Given the description of an element on the screen output the (x, y) to click on. 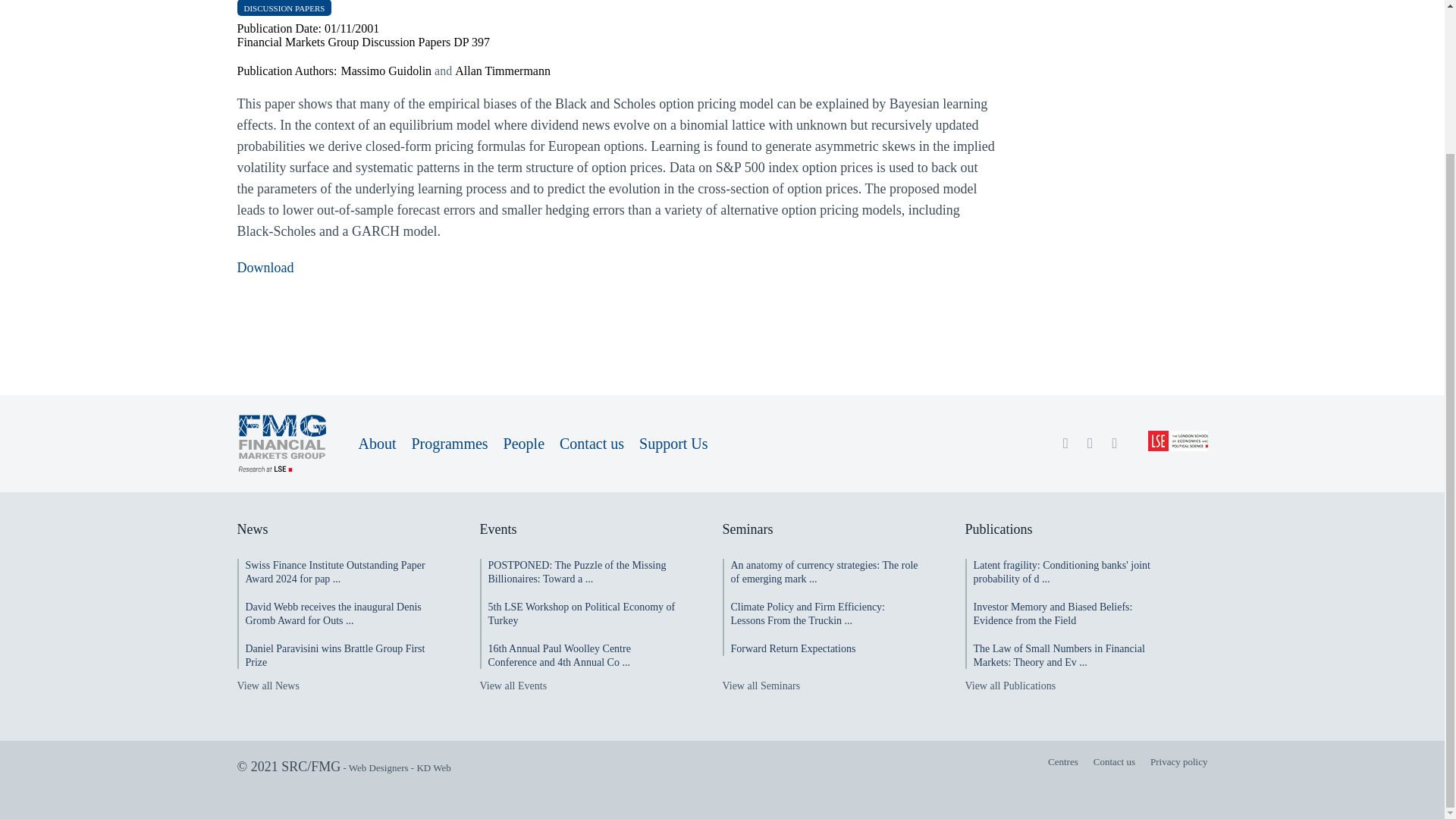
Daniel Paravisini wins Brattle Group First Prize (335, 655)
People (523, 443)
Support Us (673, 443)
DISCUSSION PAPERS (284, 8)
Support Us (673, 443)
About (377, 443)
View all News (266, 685)
Contact us (591, 443)
Download (264, 267)
Programmes (448, 443)
